Given the description of an element on the screen output the (x, y) to click on. 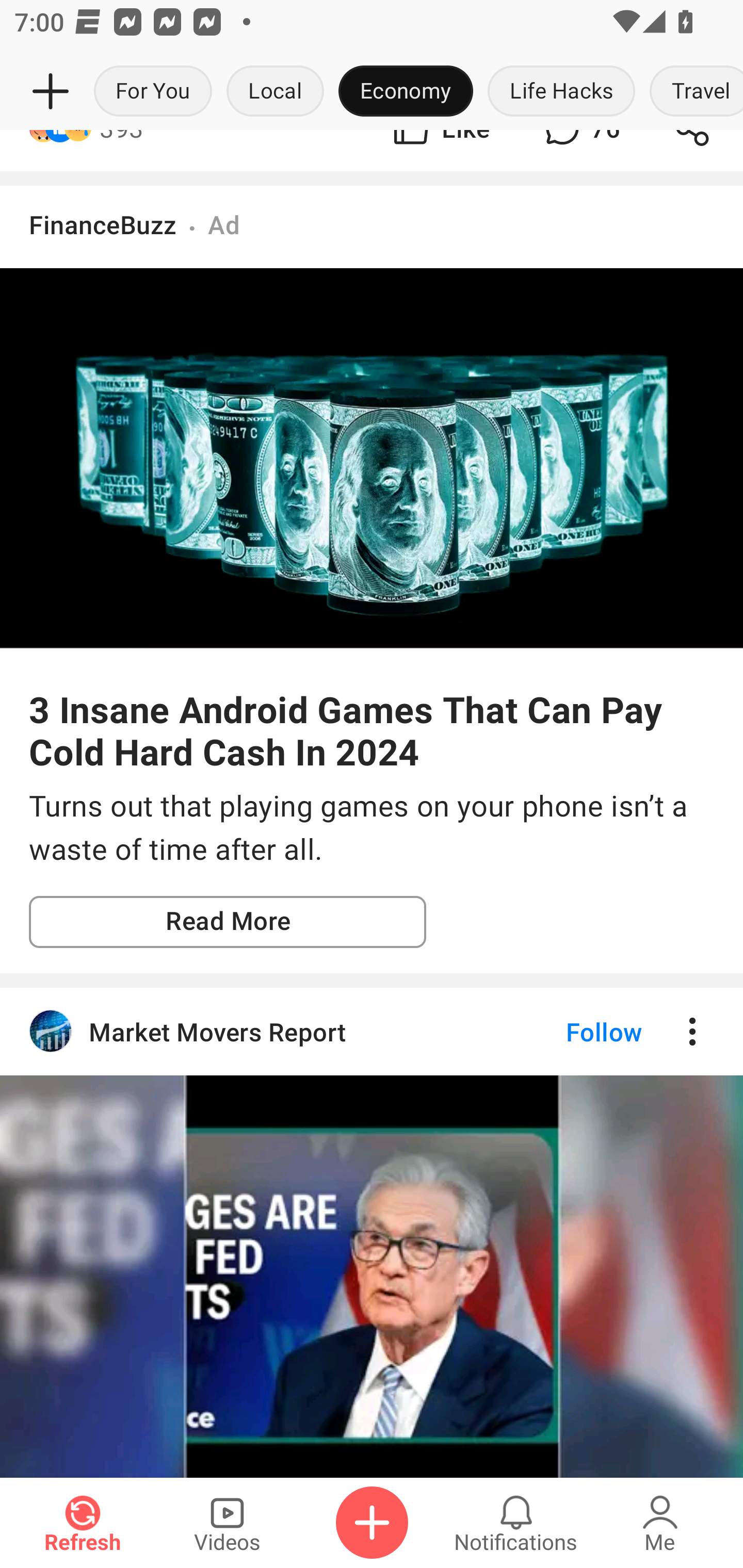
For You (152, 91)
Local (275, 91)
Economy (405, 91)
Life Hacks (561, 91)
Travel (692, 91)
FinanceBuzz (102, 223)
Read More (227, 921)
Market Movers Report Follow (371, 1031)
Follow (569, 1031)
Videos (227, 1522)
Notifications (516, 1522)
Me (659, 1522)
